Given the description of an element on the screen output the (x, y) to click on. 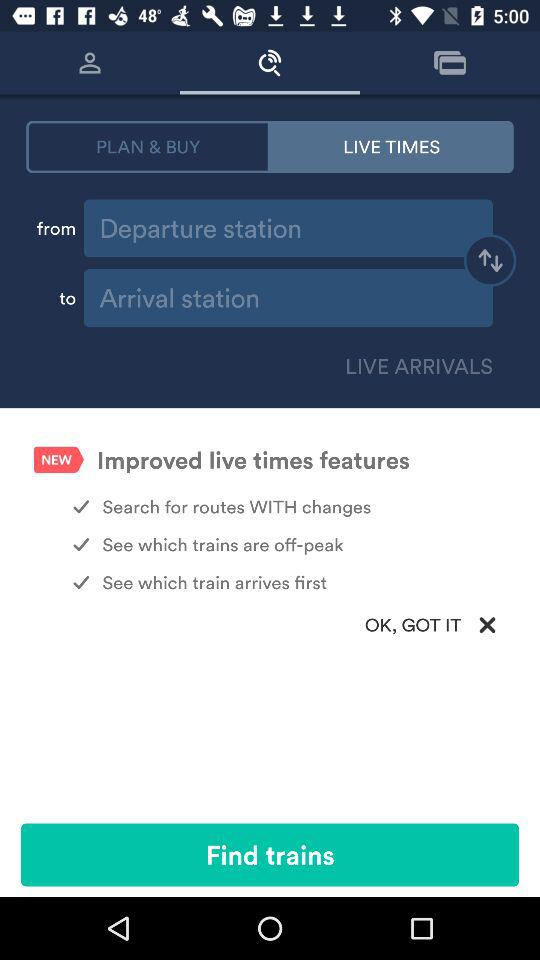
turn off icon below ok, got it (270, 854)
